Given the description of an element on the screen output the (x, y) to click on. 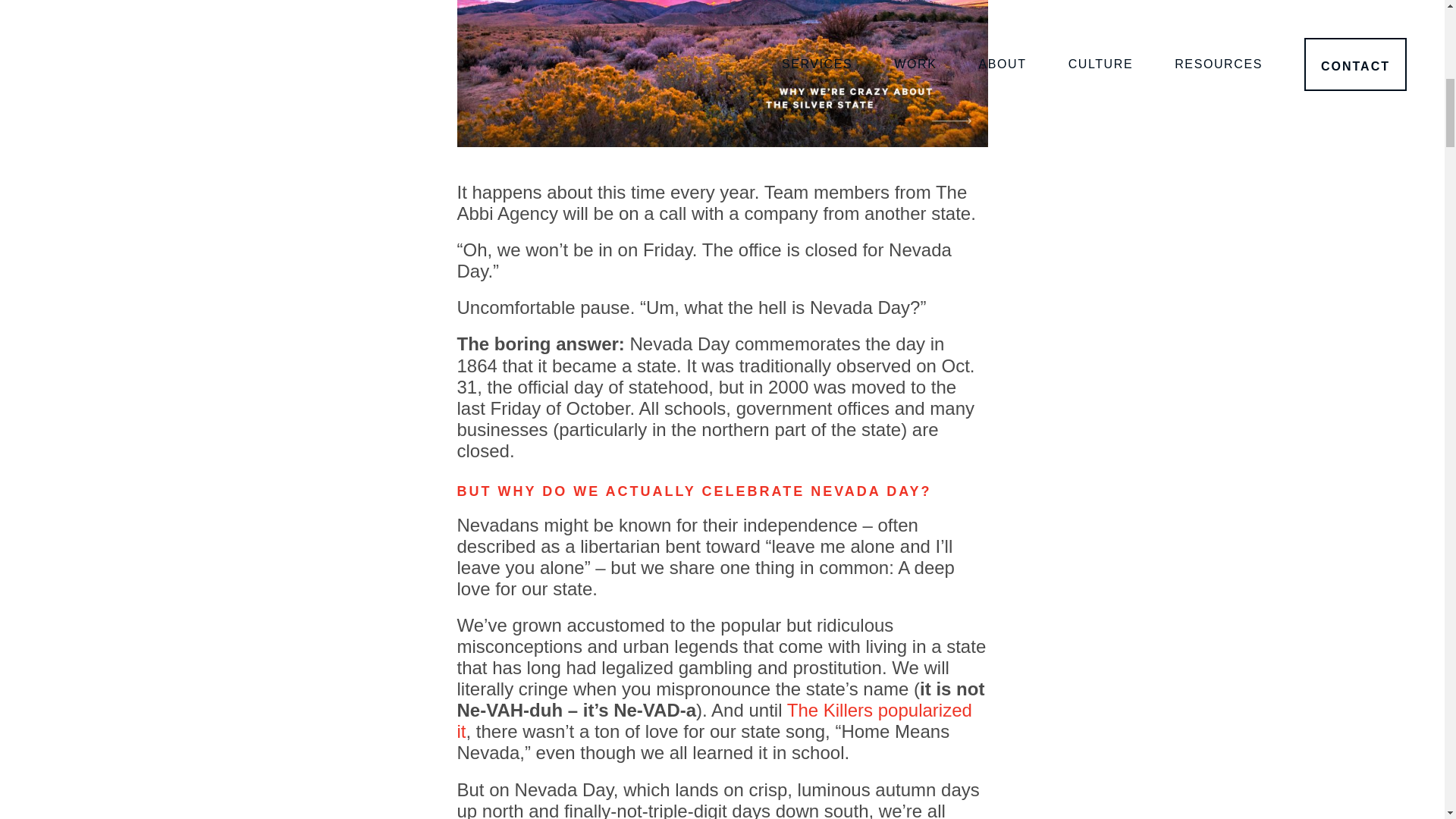
The Killers popularized it (714, 721)
